Given the description of an element on the screen output the (x, y) to click on. 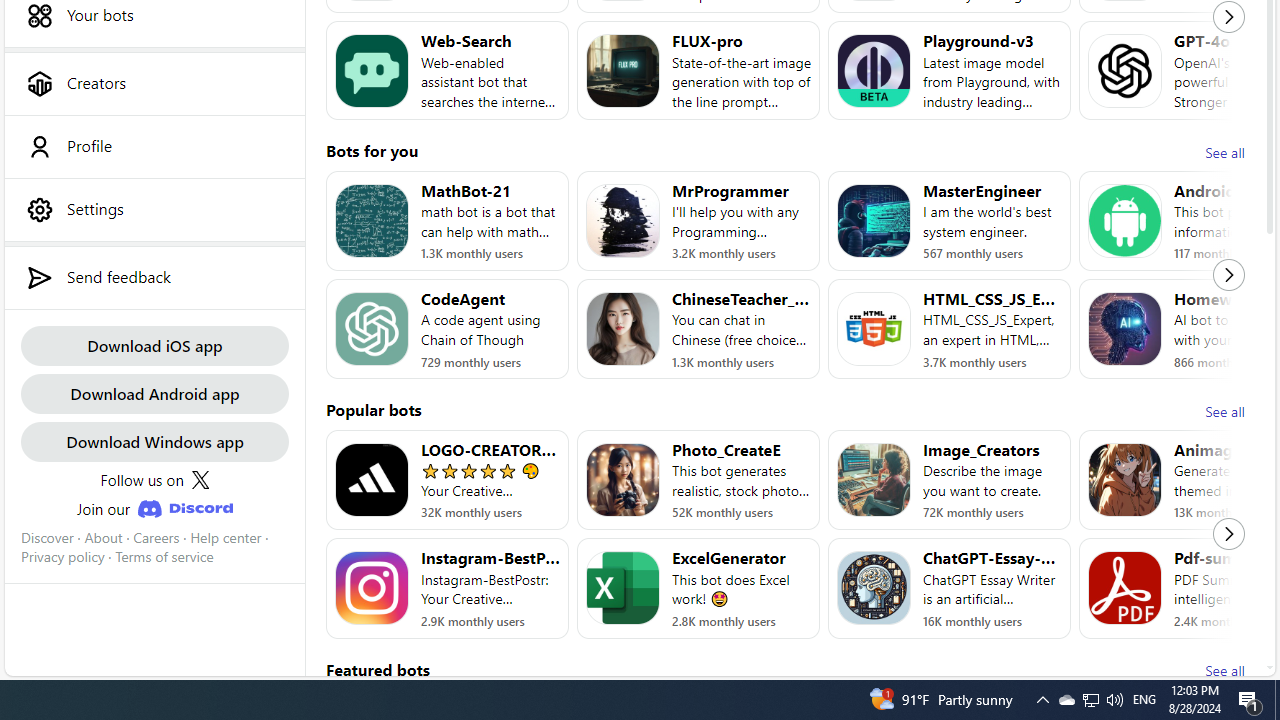
Bot image for AnimagineXL (1124, 480)
Careers (156, 537)
Bot image for CodeAgent (371, 329)
Bot image for Playground-v3 (874, 70)
Creators (154, 83)
Bot image for ExcelGenerator (623, 588)
Help center (225, 537)
Bot image for MrProgrammer (623, 220)
Bot image for ChatGPT-Essay-Writer (874, 588)
Download iOS app (154, 344)
Bot image for MathBot-21 (371, 220)
Privacy policy (62, 557)
Bot image for Homeworkbot679 (1124, 329)
